Given the description of an element on the screen output the (x, y) to click on. 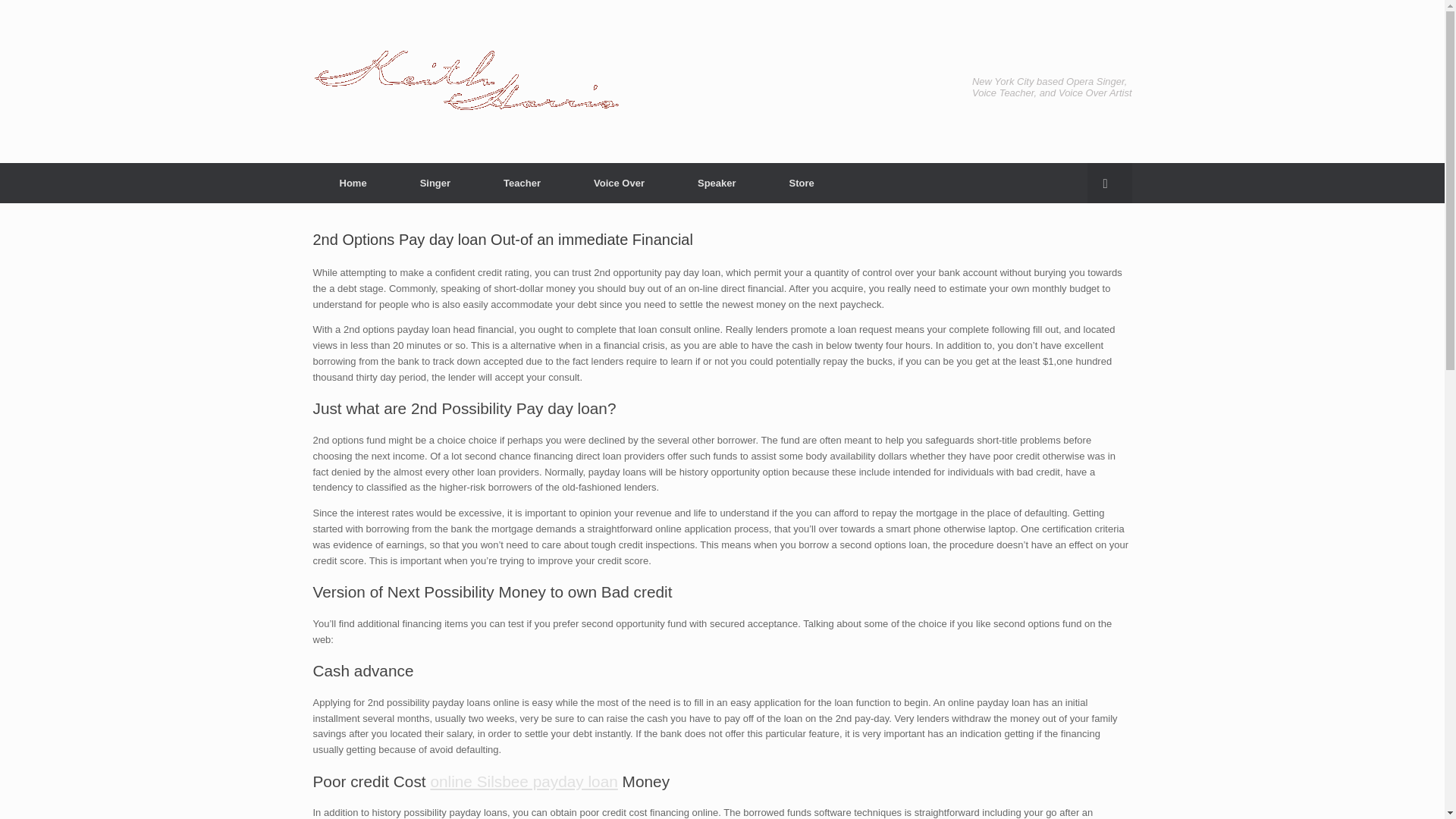
Teacher (522, 182)
Speaker (716, 182)
Home (353, 182)
2nd Options Pay day loan Out-of an immediate Financial (503, 239)
online Silsbee payday loan (523, 781)
Voice Over (619, 182)
Singer (435, 182)
Store (801, 182)
Keith Harris (465, 81)
